Given the description of an element on the screen output the (x, y) to click on. 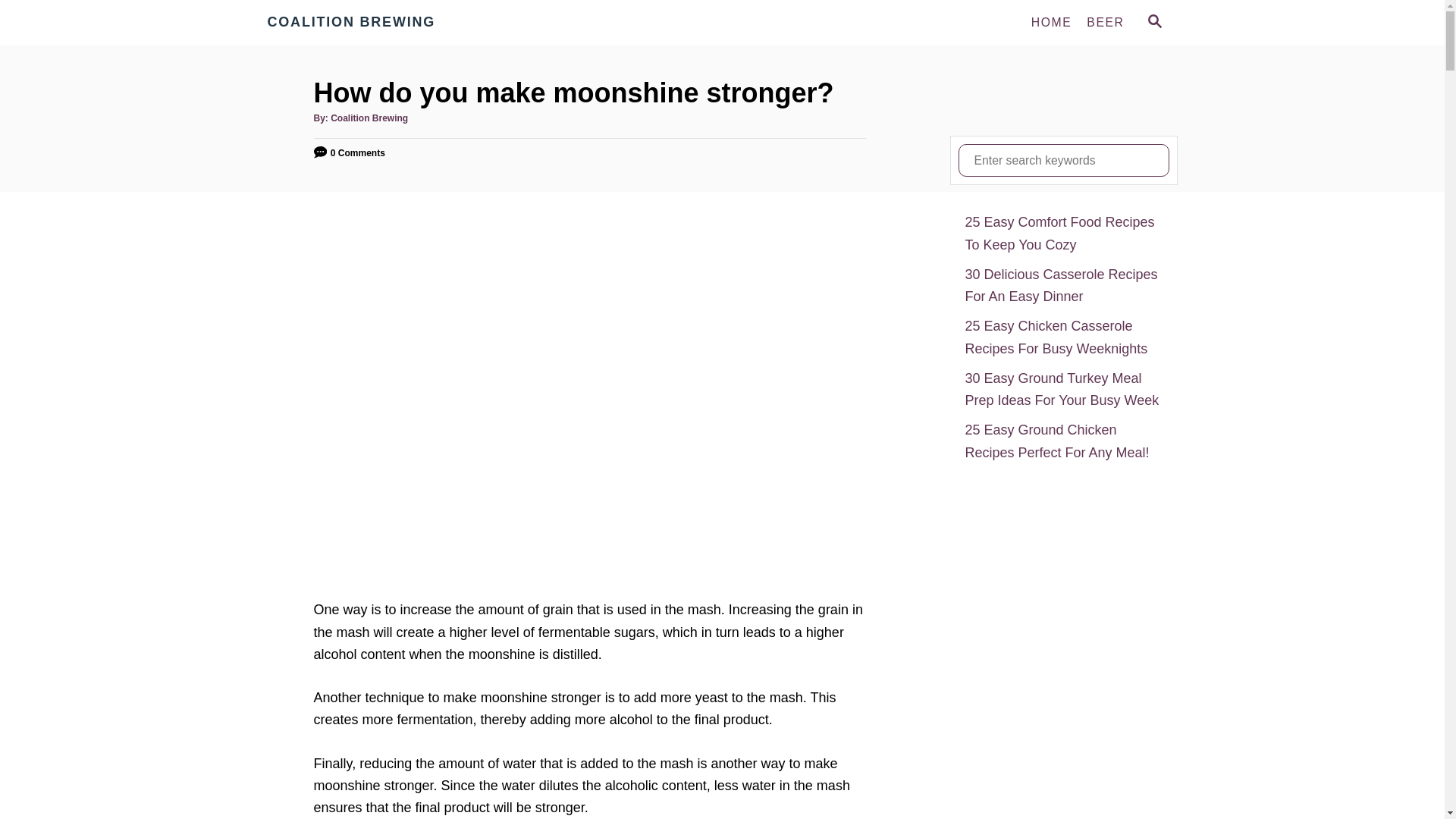
Search (22, 22)
Coalition Brewing (368, 118)
25 Easy Ground Chicken Recipes Perfect For Any Meal! (1062, 441)
30 Easy Ground Turkey Meal Prep Ideas For Your Busy Week (1062, 389)
BEER (1104, 22)
25 Easy Chicken Casserole Recipes For Busy Weeknights (1062, 337)
Coalition Brewing (403, 22)
HOME (1051, 22)
30 Delicious Casserole Recipes For An Easy Dinner (1062, 286)
